Given the description of an element on the screen output the (x, y) to click on. 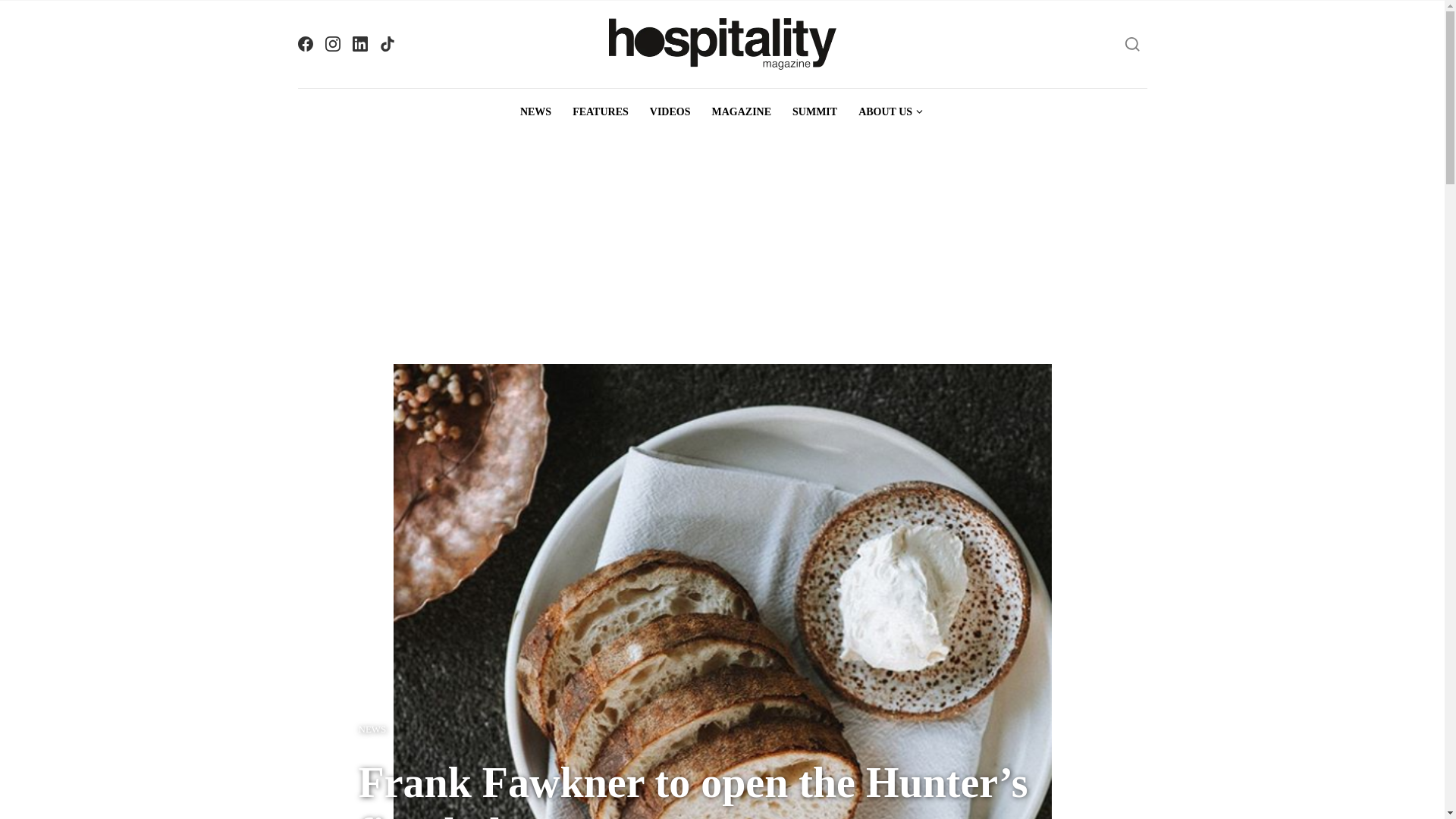
NEWS (535, 111)
ABOUT US (890, 111)
View all posts in News (372, 729)
NEWS (372, 729)
FEATURES (600, 111)
VIDEOS (670, 111)
SUMMIT (814, 111)
MAGAZINE (740, 111)
